Given the description of an element on the screen output the (x, y) to click on. 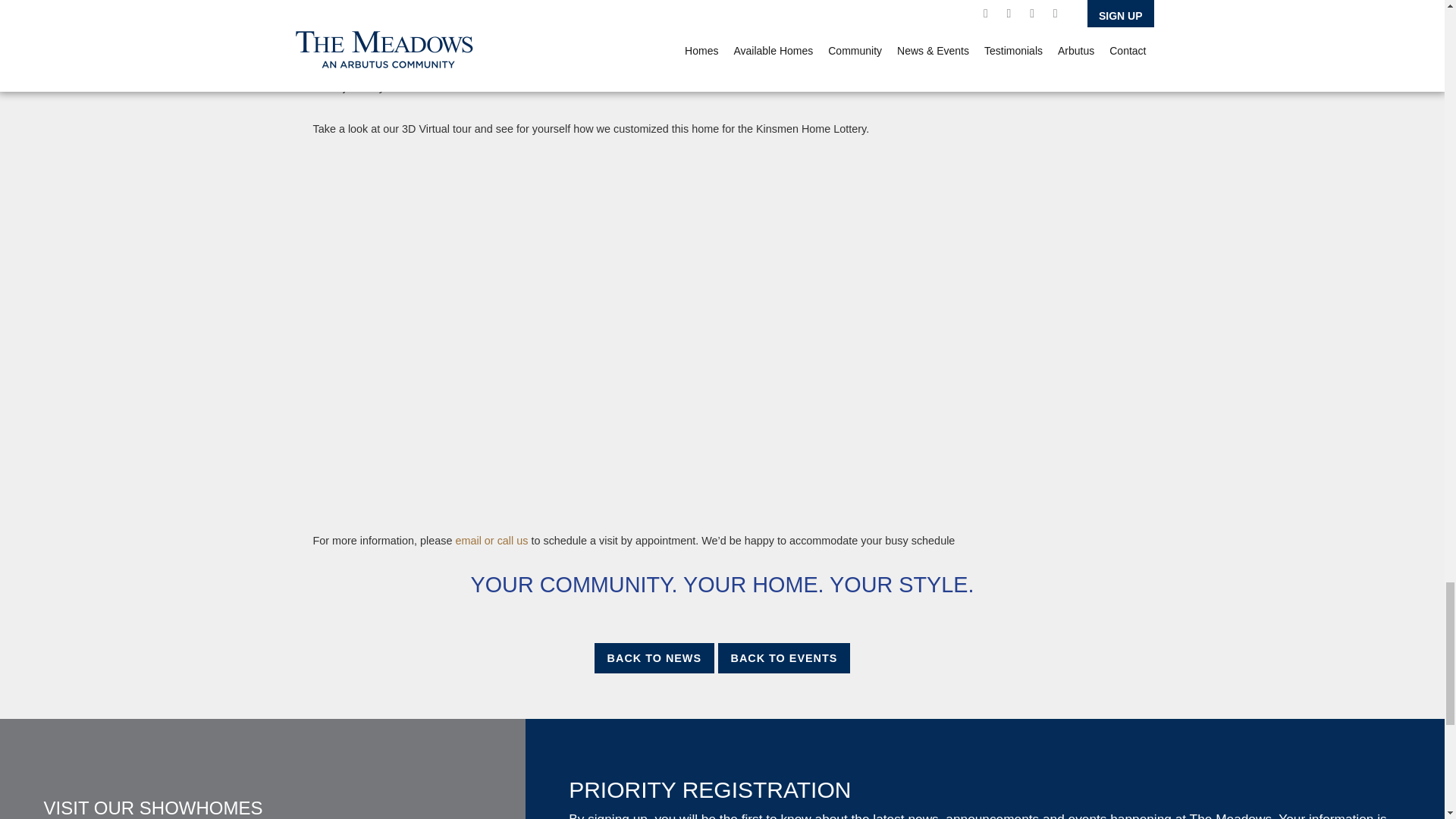
BACK TO EVENTS (783, 657)
BACK TO NEWS (654, 657)
 email or call us (489, 540)
